Given the description of an element on the screen output the (x, y) to click on. 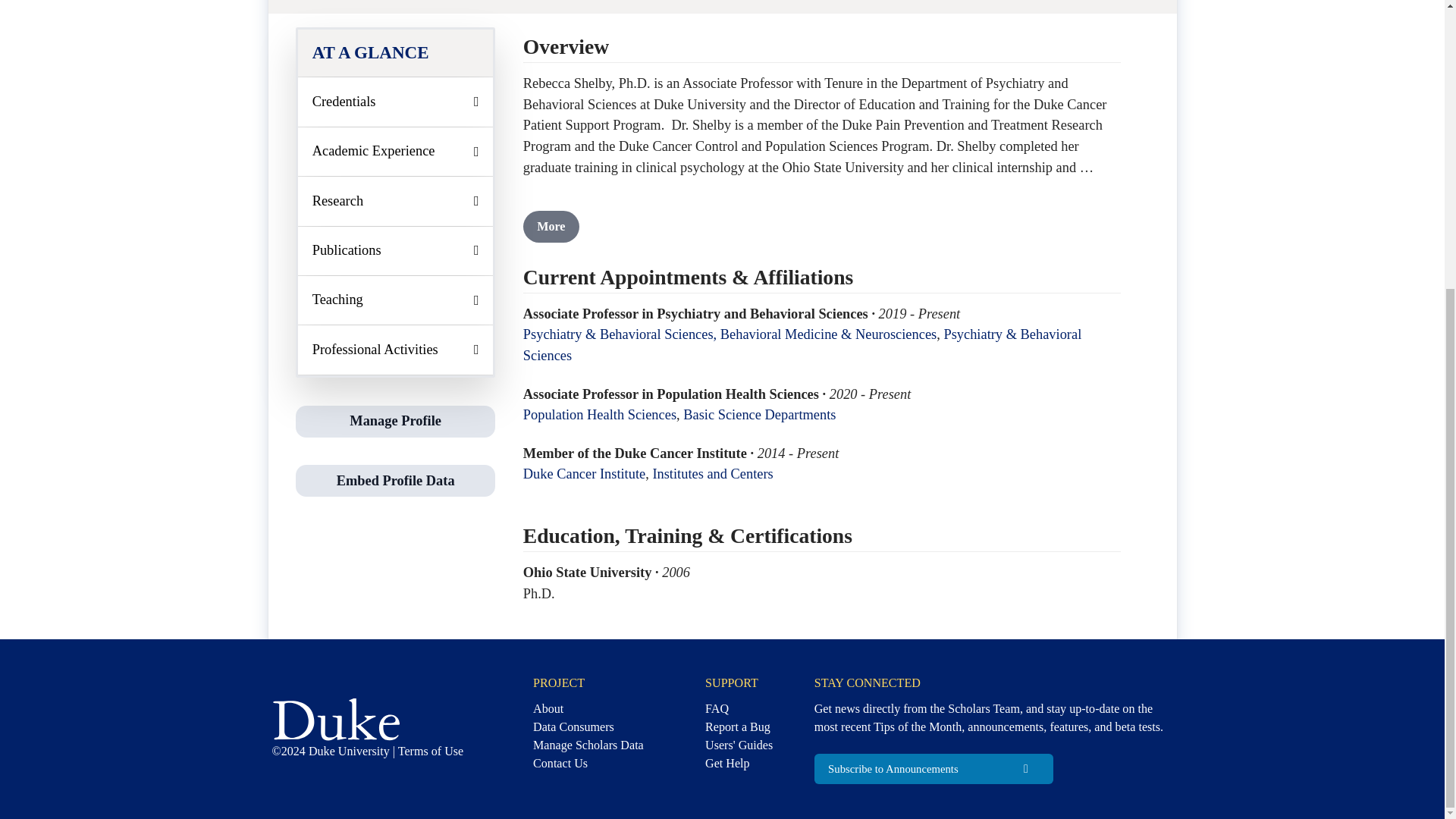
Embed Profile Data (395, 480)
AT A GLANCE (395, 52)
Credentials (395, 101)
Professional Activities (395, 349)
Academic Experience (395, 151)
Research (395, 200)
Teaching (395, 300)
Publications (395, 250)
Manage Profile (395, 420)
